Given the description of an element on the screen output the (x, y) to click on. 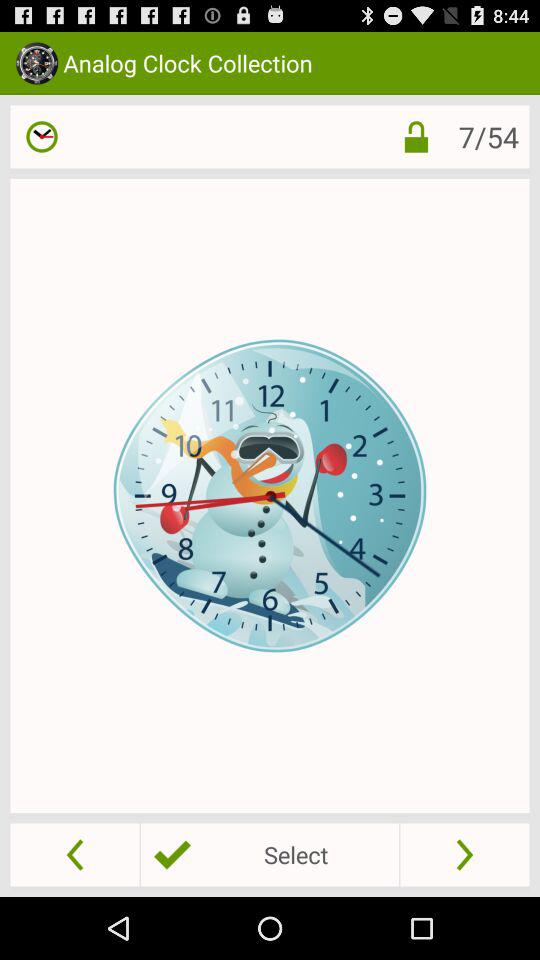
go forward (464, 854)
